Given the description of an element on the screen output the (x, y) to click on. 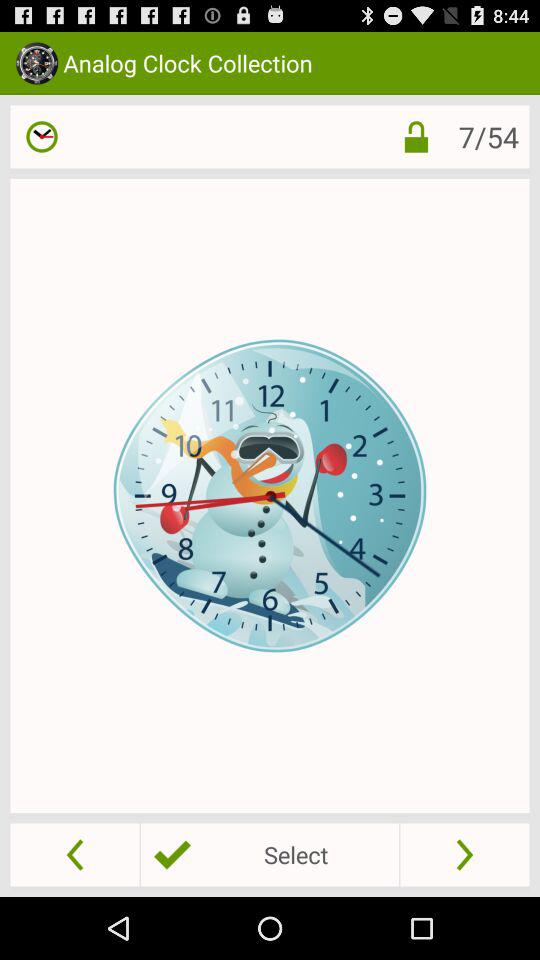
go forward (464, 854)
